Given the description of an element on the screen output the (x, y) to click on. 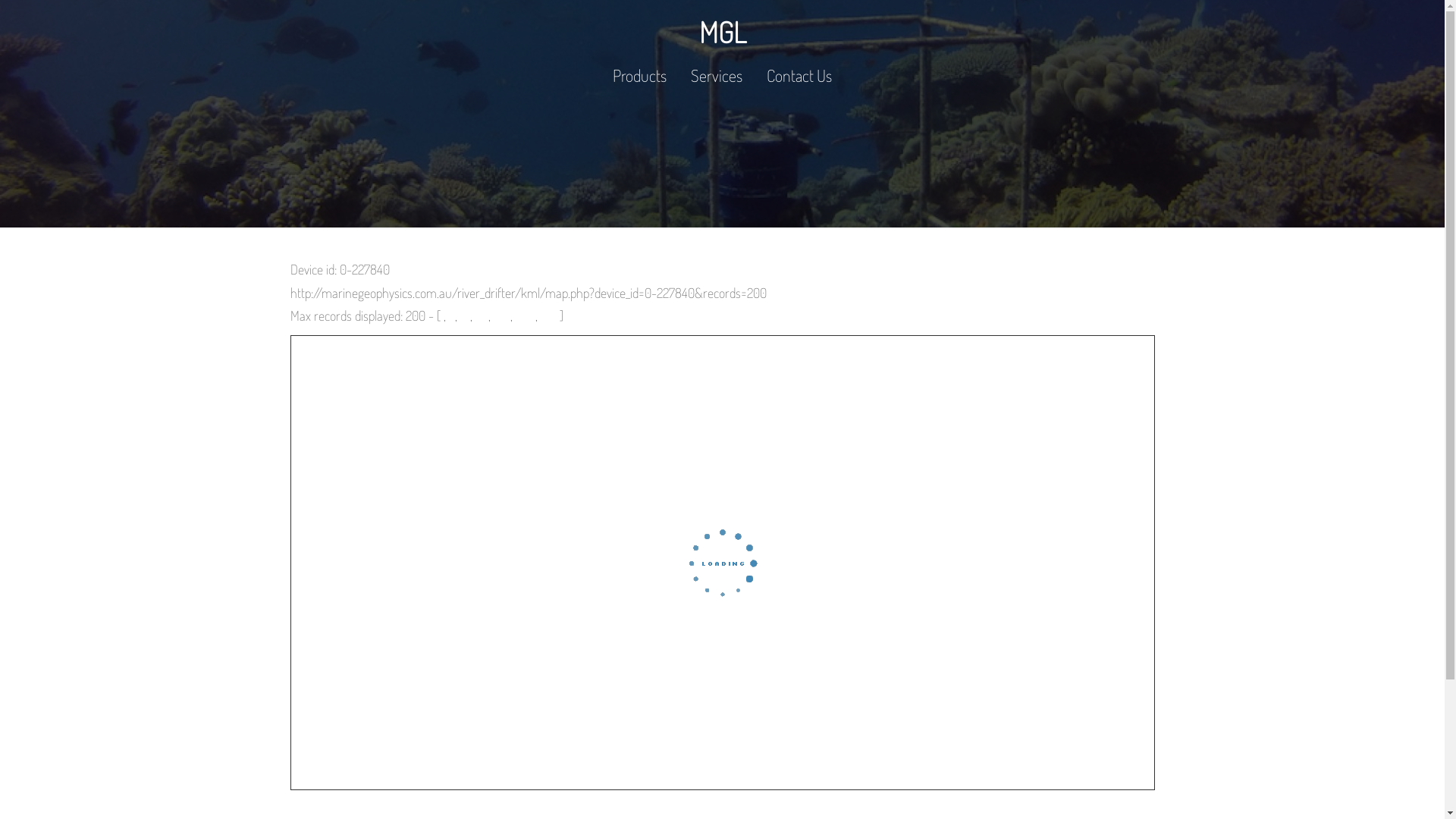
Contact Us Element type: text (798, 75)
10 Element type: text (464, 315)
500 Element type: text (548, 315)
5 Element type: text (451, 315)
Services Element type: text (716, 75)
100 Element type: text (500, 315)
Products Element type: text (639, 75)
1 Element type: text (440, 315)
200 Element type: text (525, 315)
Skip to content Element type: text (0, 0)
50 Element type: text (480, 315)
MGL Element type: text (722, 31)
